Given the description of an element on the screen output the (x, y) to click on. 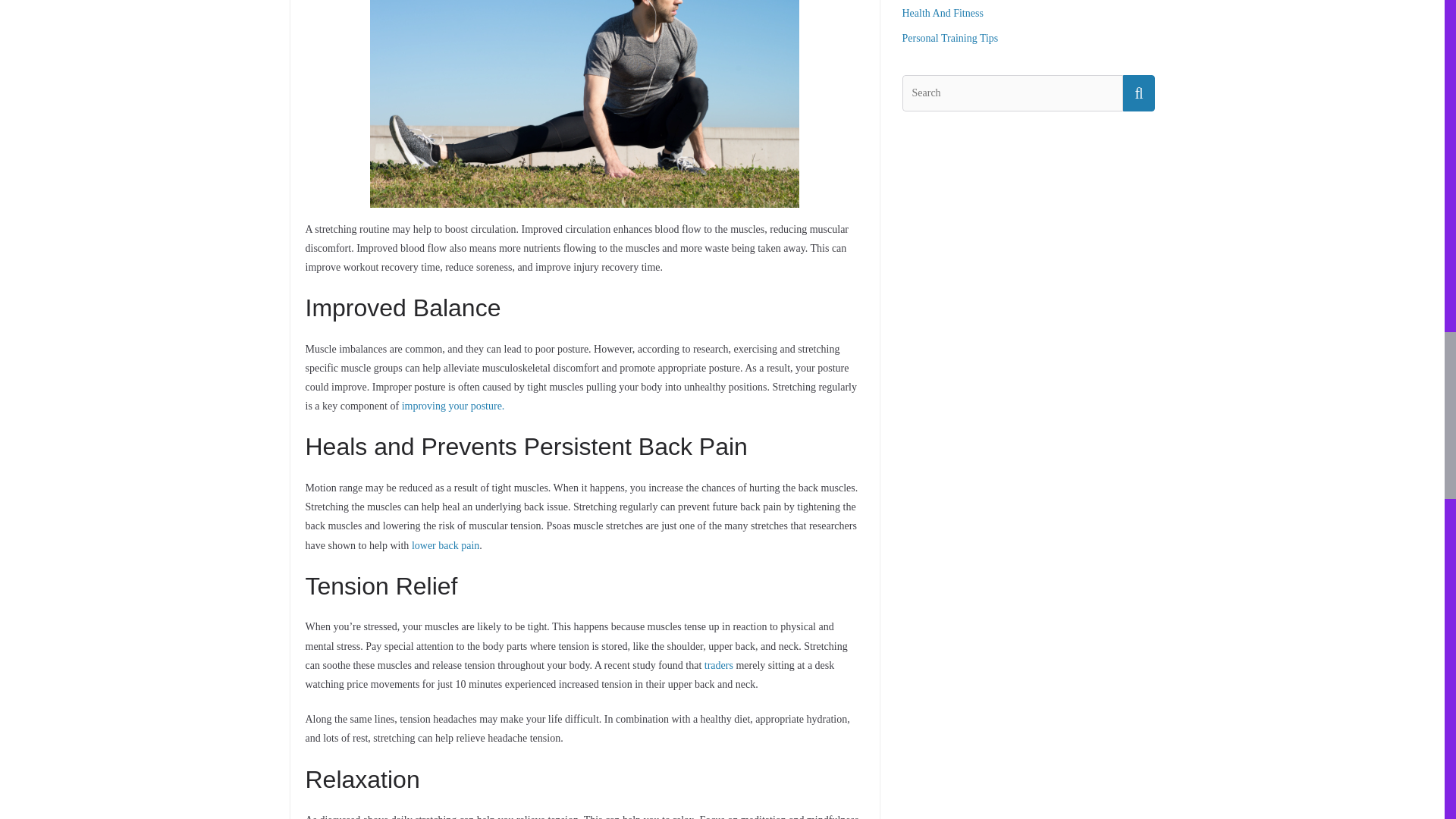
improving your posture. (453, 405)
traders (718, 665)
lower back pain (445, 545)
